Given the description of an element on the screen output the (x, y) to click on. 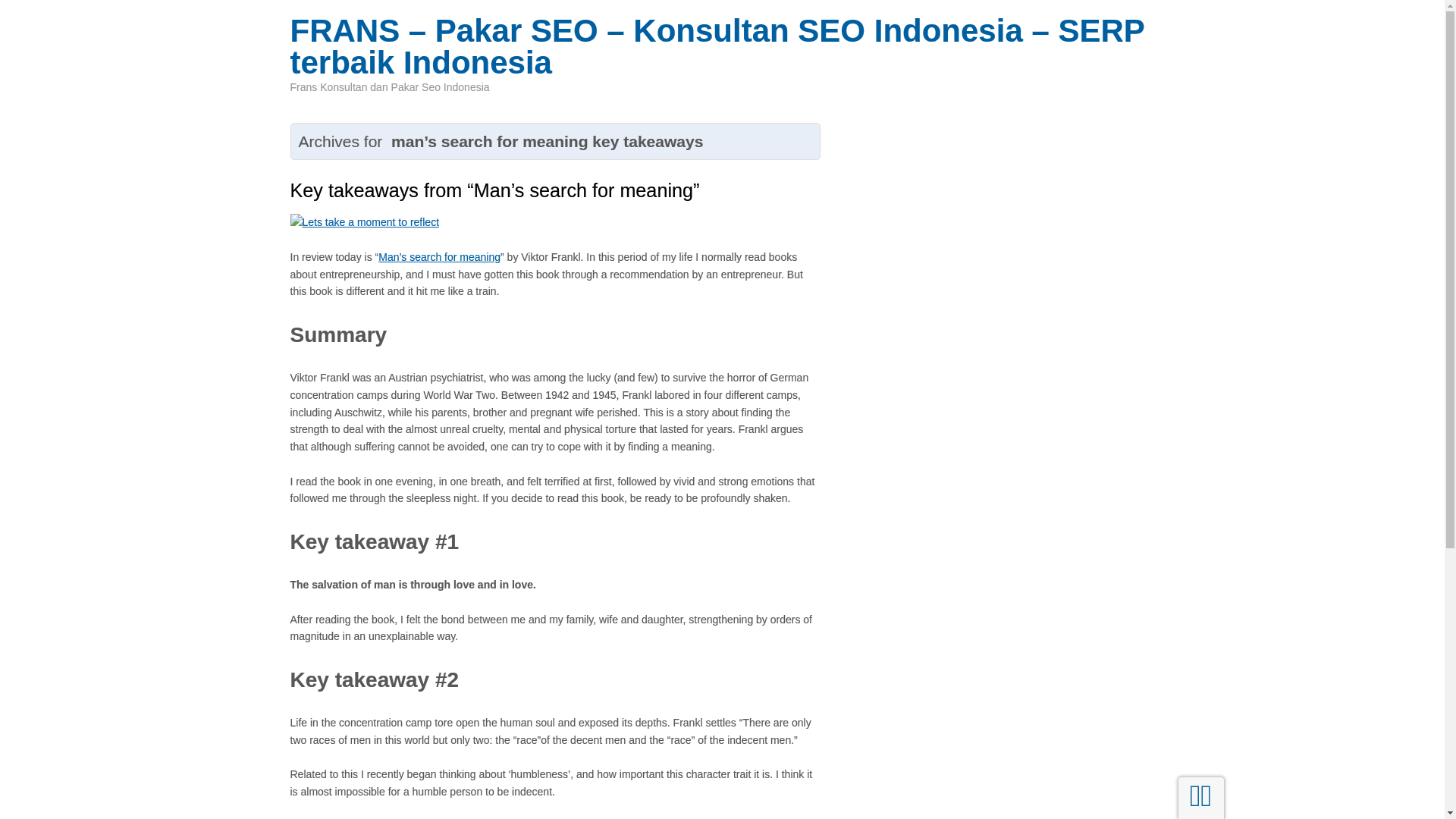
Lets take a moment to reflect (364, 221)
